Given the description of an element on the screen output the (x, y) to click on. 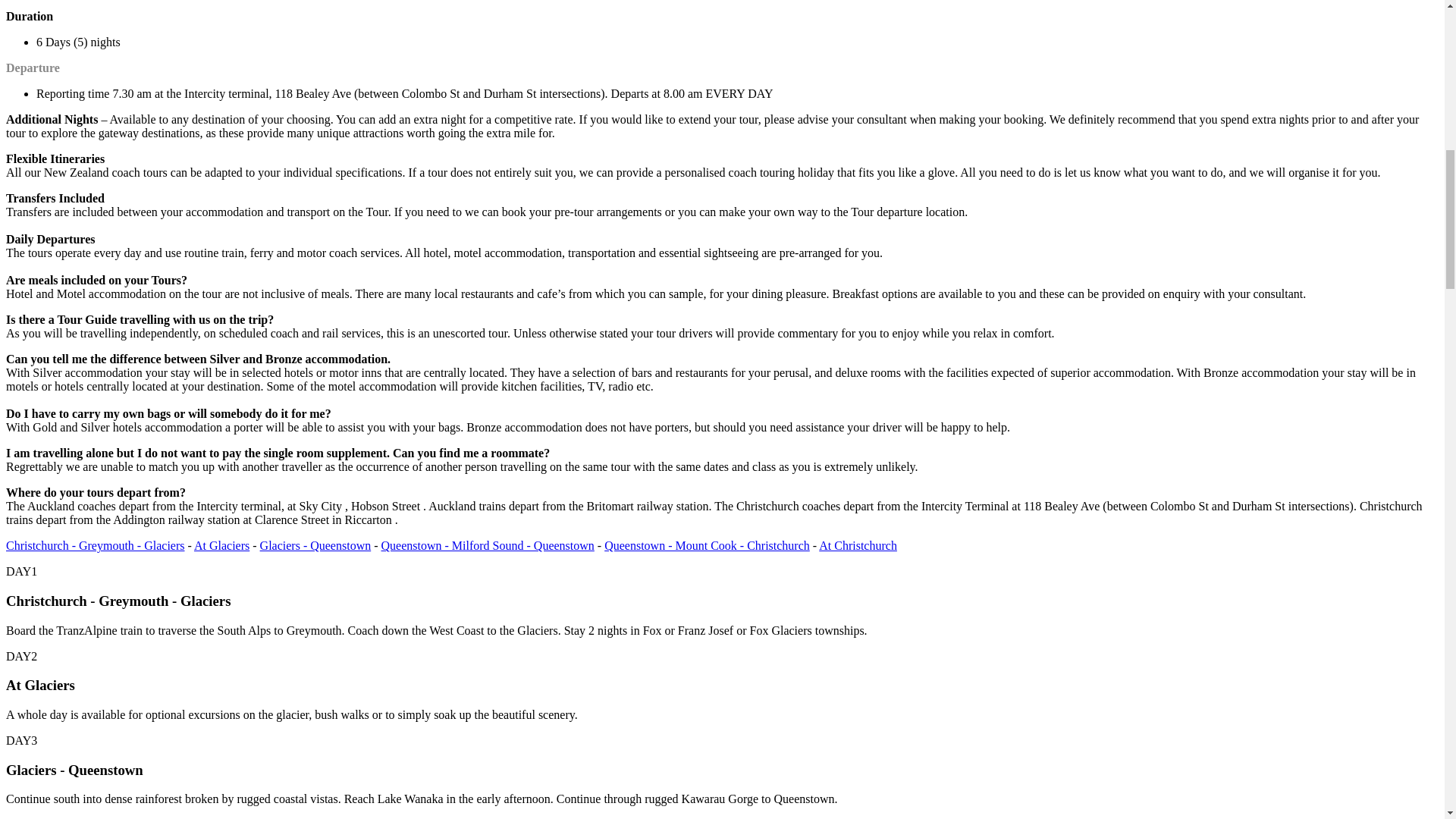
Glaciers - Queenstown (315, 545)
At Glaciers (220, 545)
At Christchurch (857, 545)
Christchurch - Greymouth - Glaciers (94, 545)
Queenstown - Mount Cook - Christchurch (706, 545)
Queenstown - Milford Sound - Queenstown (487, 545)
